Given the description of an element on the screen output the (x, y) to click on. 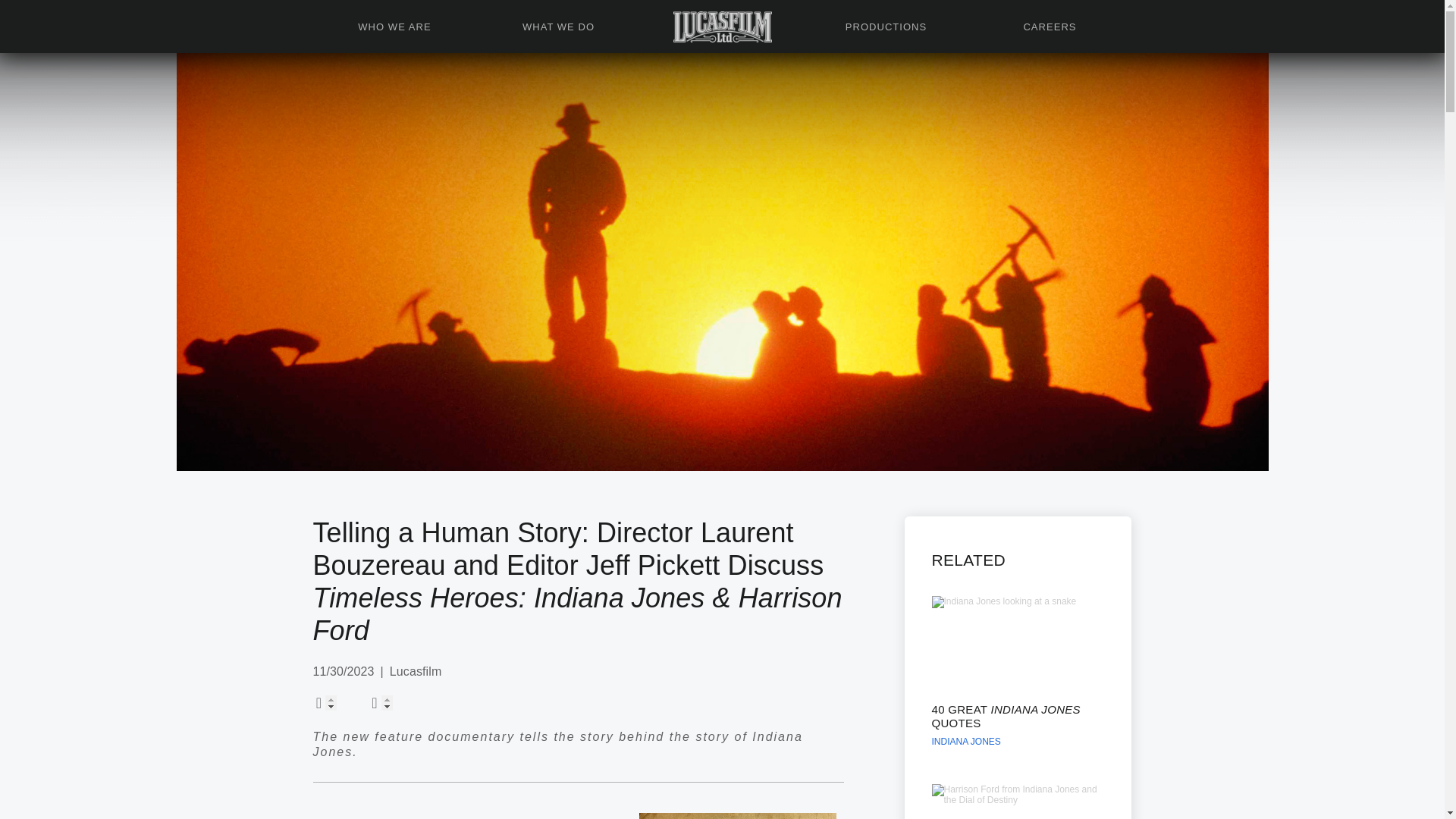
WHO WE ARE (394, 26)
WHAT WE DO (558, 26)
